Given the description of an element on the screen output the (x, y) to click on. 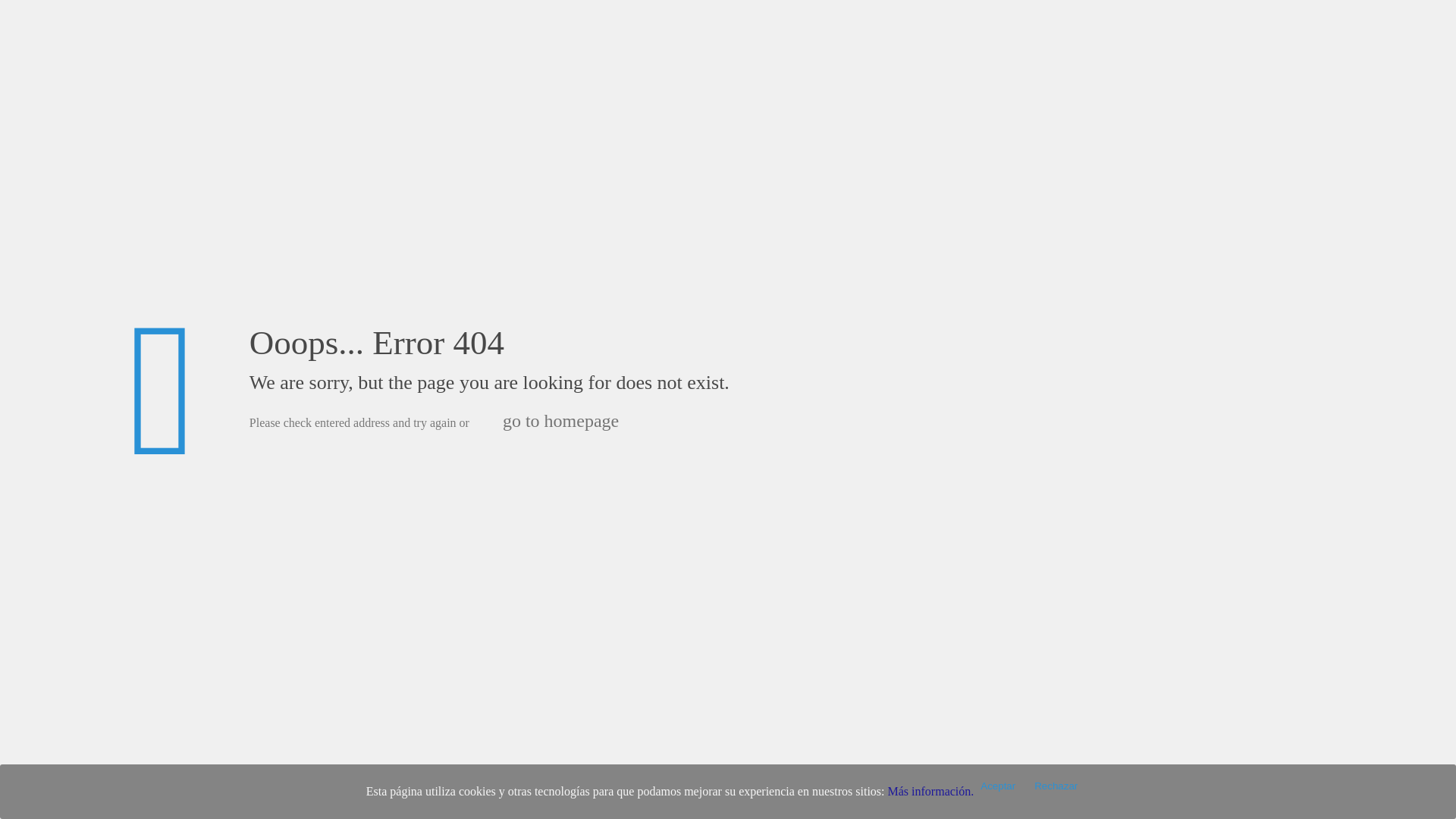
go to homepage (560, 420)
Aceptar (998, 785)
Rechazar (1055, 785)
